Given the description of an element on the screen output the (x, y) to click on. 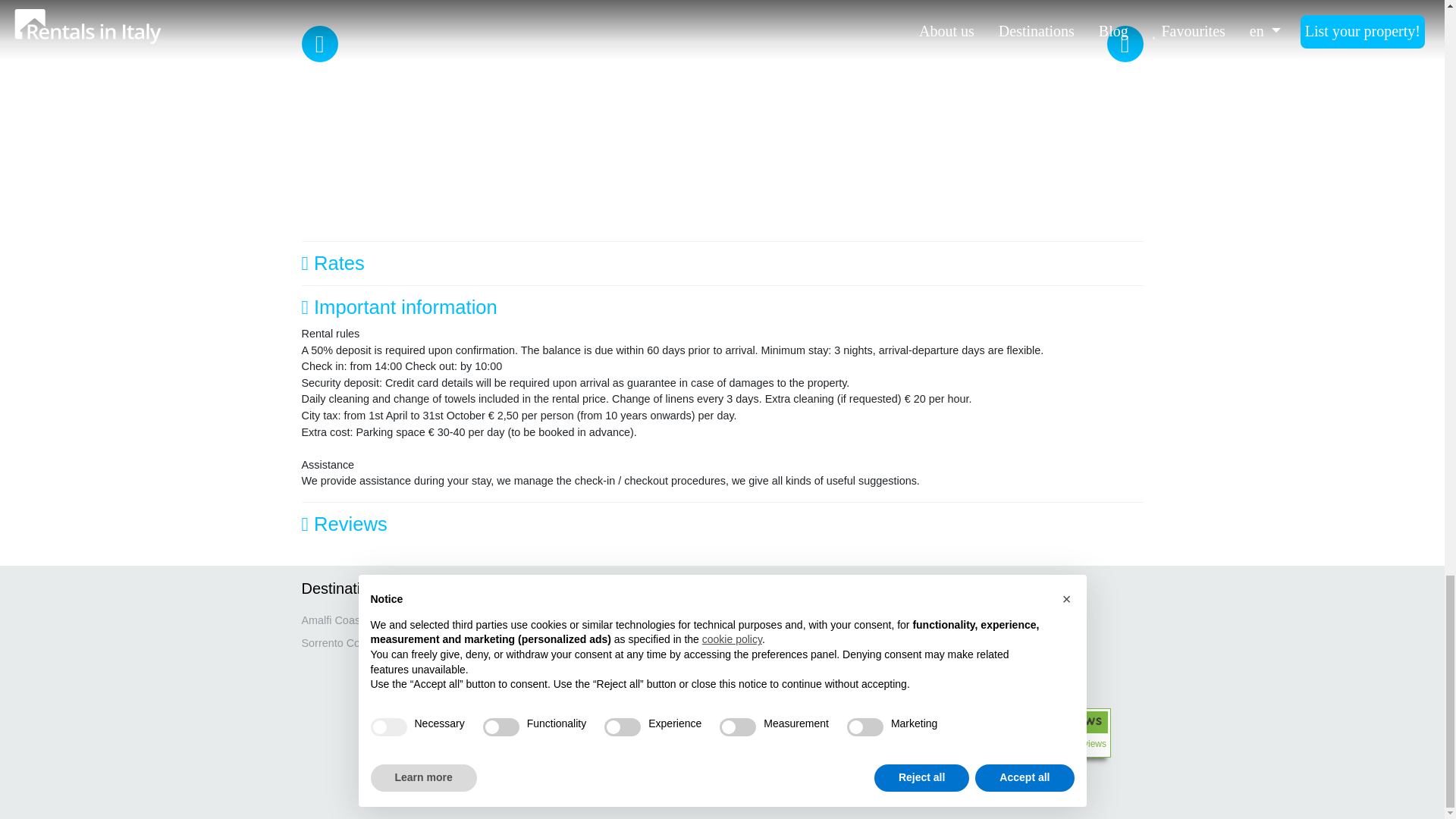
Amalfi Coast (332, 620)
Terms (531, 711)
Faq (525, 620)
Contact us (542, 643)
Privacy Policy (550, 688)
Contact us (542, 643)
Faq (525, 620)
Sorrento Coast (338, 643)
Cookie policy (549, 665)
